Given the description of an element on the screen output the (x, y) to click on. 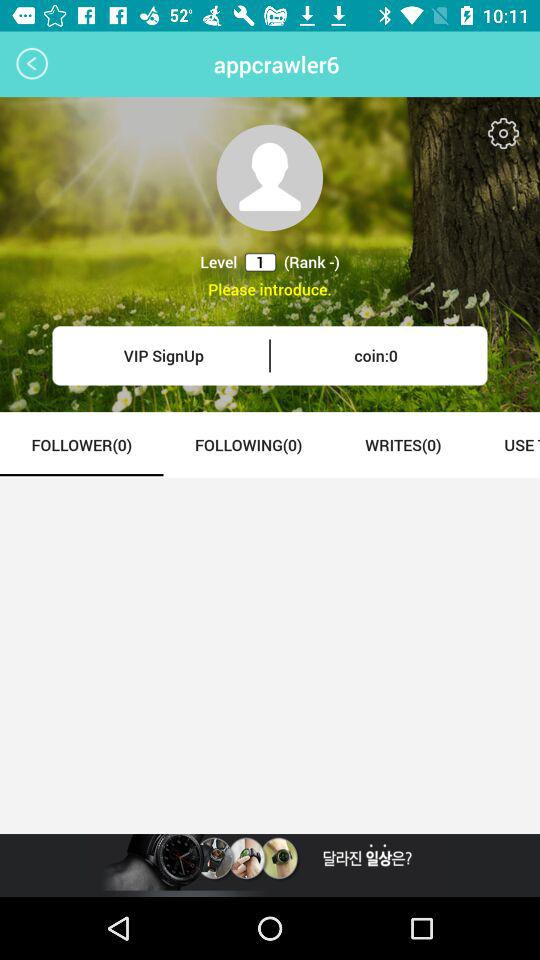
settings (503, 133)
